Given the description of an element on the screen output the (x, y) to click on. 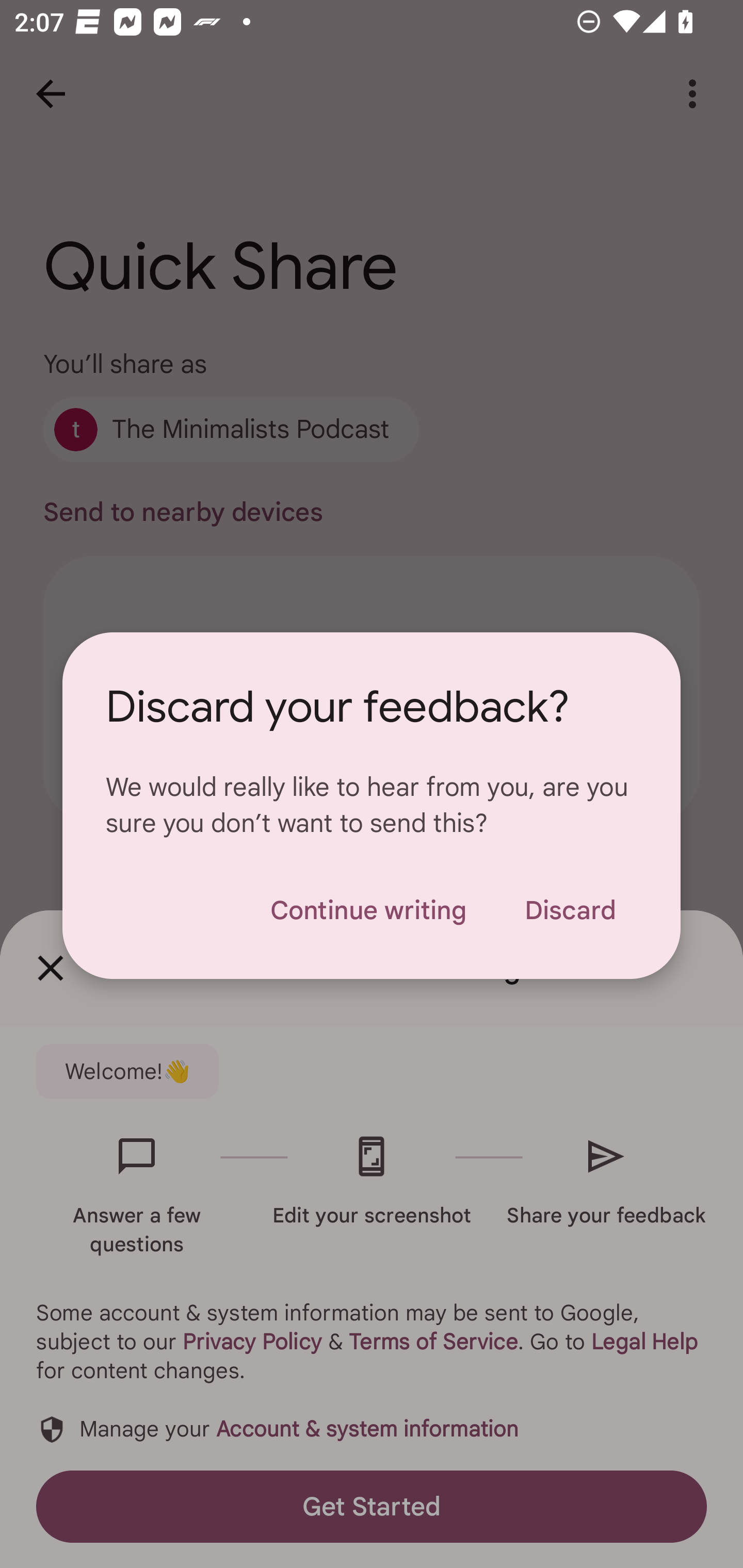
Continue writing (368, 910)
Discard (569, 910)
